Given the description of an element on the screen output the (x, y) to click on. 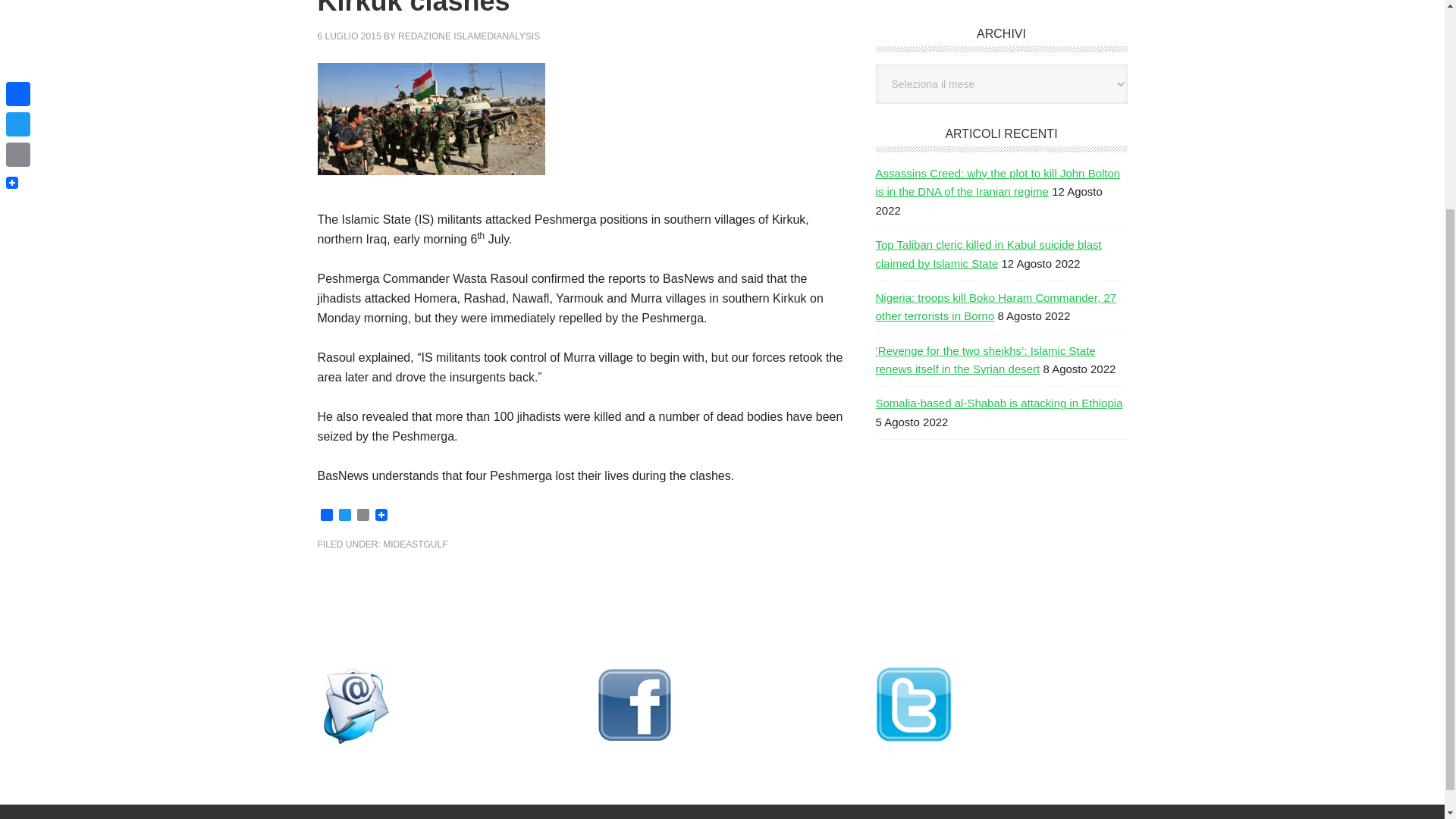
Twitter (343, 515)
Somalia-based al-Shabab is attacking in Ethiopia (998, 402)
MIDEASTGULF (414, 543)
Twitter (343, 515)
Facebook (325, 515)
REDAZIONE ISLAMEDIANALYSIS (468, 36)
Email (362, 515)
Email (362, 515)
